Given the description of an element on the screen output the (x, y) to click on. 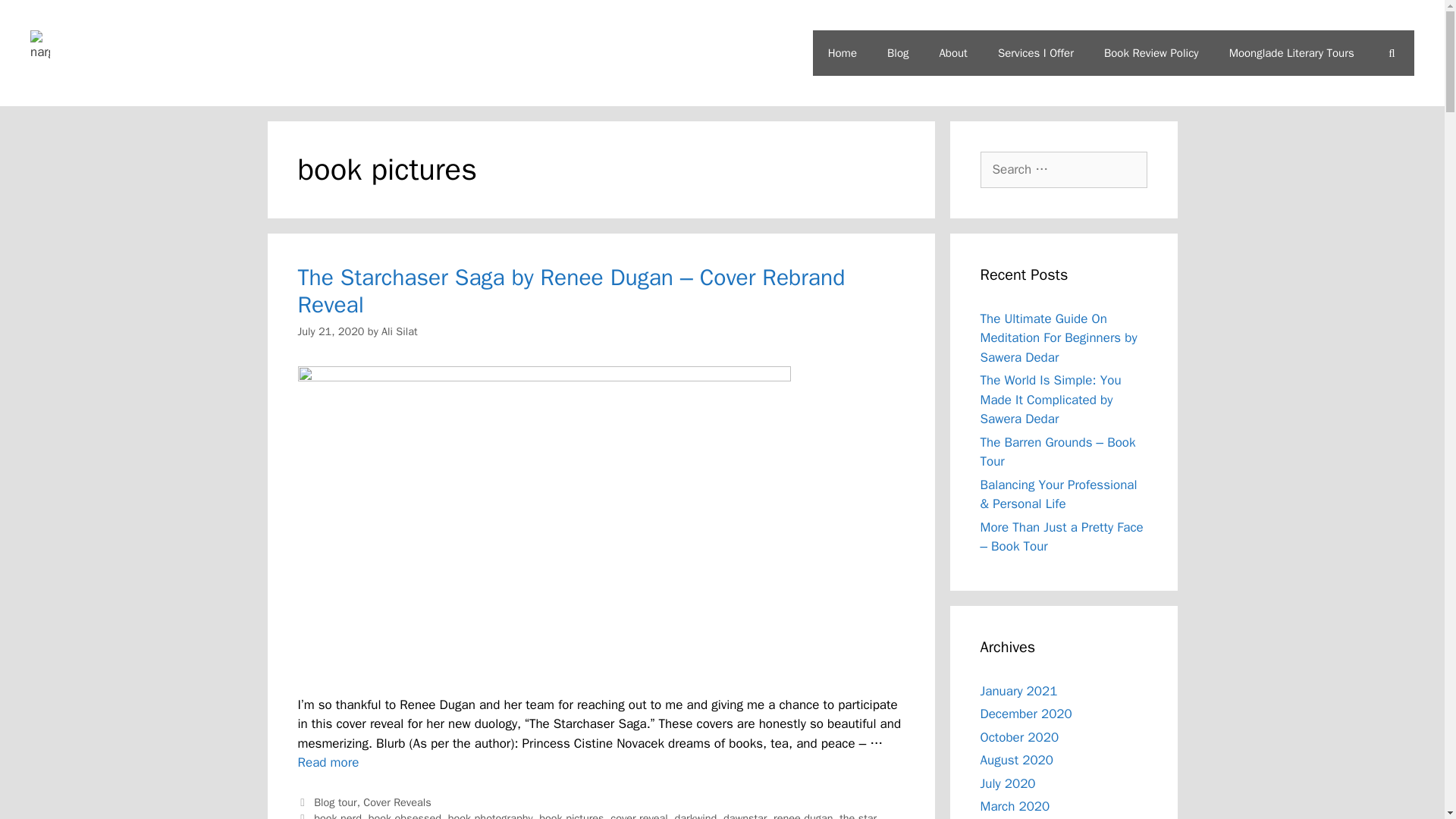
dawnstar (745, 815)
book nerd (337, 815)
Blog (897, 53)
the star chaser saga (586, 815)
book obsessed (404, 815)
Home (842, 53)
View all posts by Ali Silat (399, 331)
cover reveal (639, 815)
renee dugan (802, 815)
Cover Reveals (396, 802)
